Given the description of an element on the screen output the (x, y) to click on. 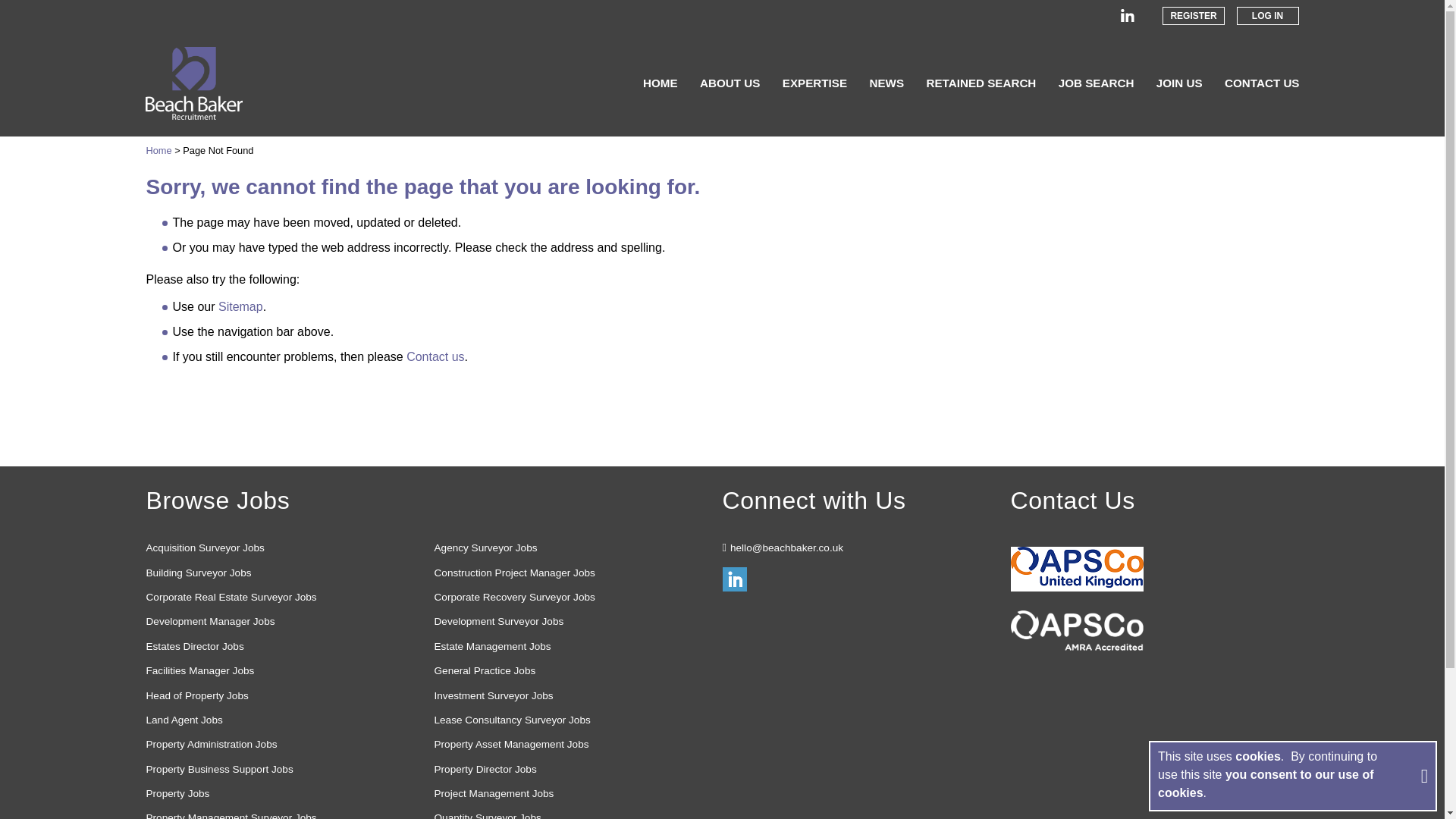
HOME (660, 83)
Lease Consultancy Surveyor Jobs (573, 720)
JOB SEARCH (1096, 83)
CONTACT US (1261, 83)
Head of Property Jobs (285, 695)
Acquisition Surveyor Jobs (285, 547)
Property Administration Jobs (285, 744)
Acquisition Surveyor Jobs (285, 547)
Home (158, 150)
RETAINED SEARCH (980, 83)
